Given the description of an element on the screen output the (x, y) to click on. 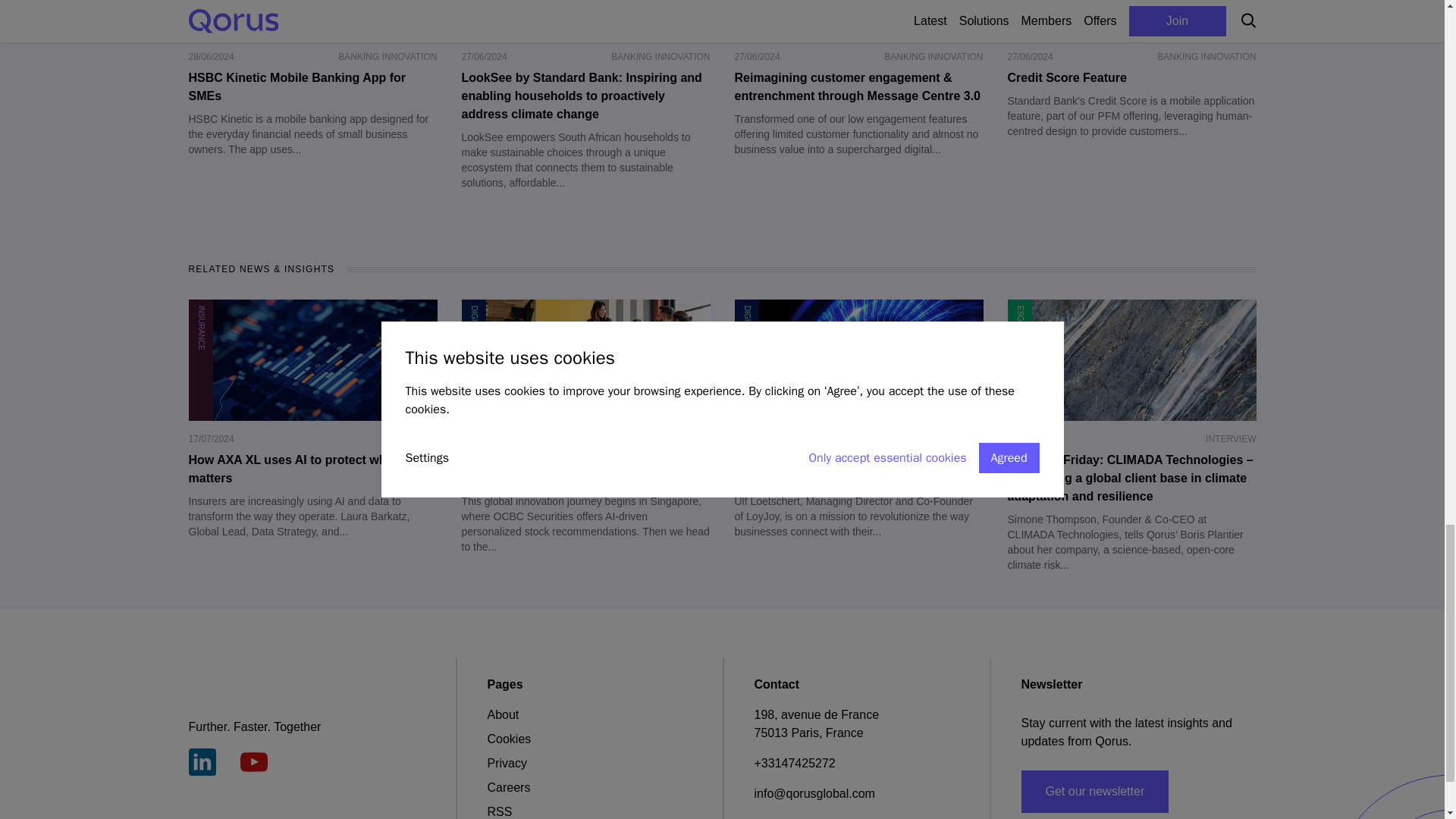
Cookies (508, 738)
HSBC Kinetic Mobile Banking App for SMEs (311, 86)
Credit Score Feature (1131, 77)
About (502, 714)
How AXA XL uses AI to protect what matters (311, 469)
